Given the description of an element on the screen output the (x, y) to click on. 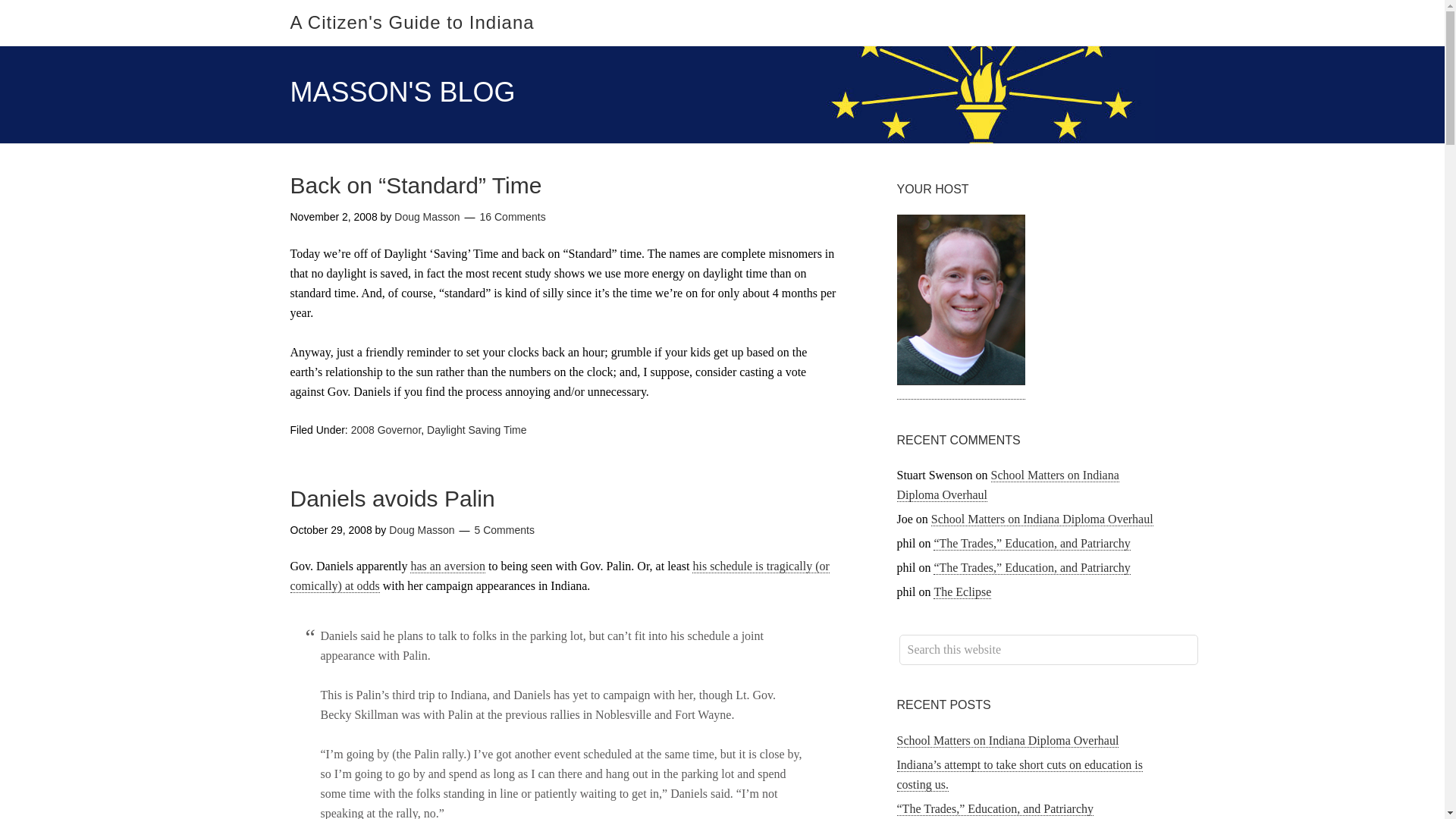
Doug Masson (427, 216)
A Citizen's Guide to Indiana (411, 22)
2008 Governor (386, 429)
Doug Masson (421, 529)
Daniels avoids Palin (392, 497)
5 Comments (504, 529)
16 Comments (513, 216)
has an aversion (447, 566)
